Given the description of an element on the screen output the (x, y) to click on. 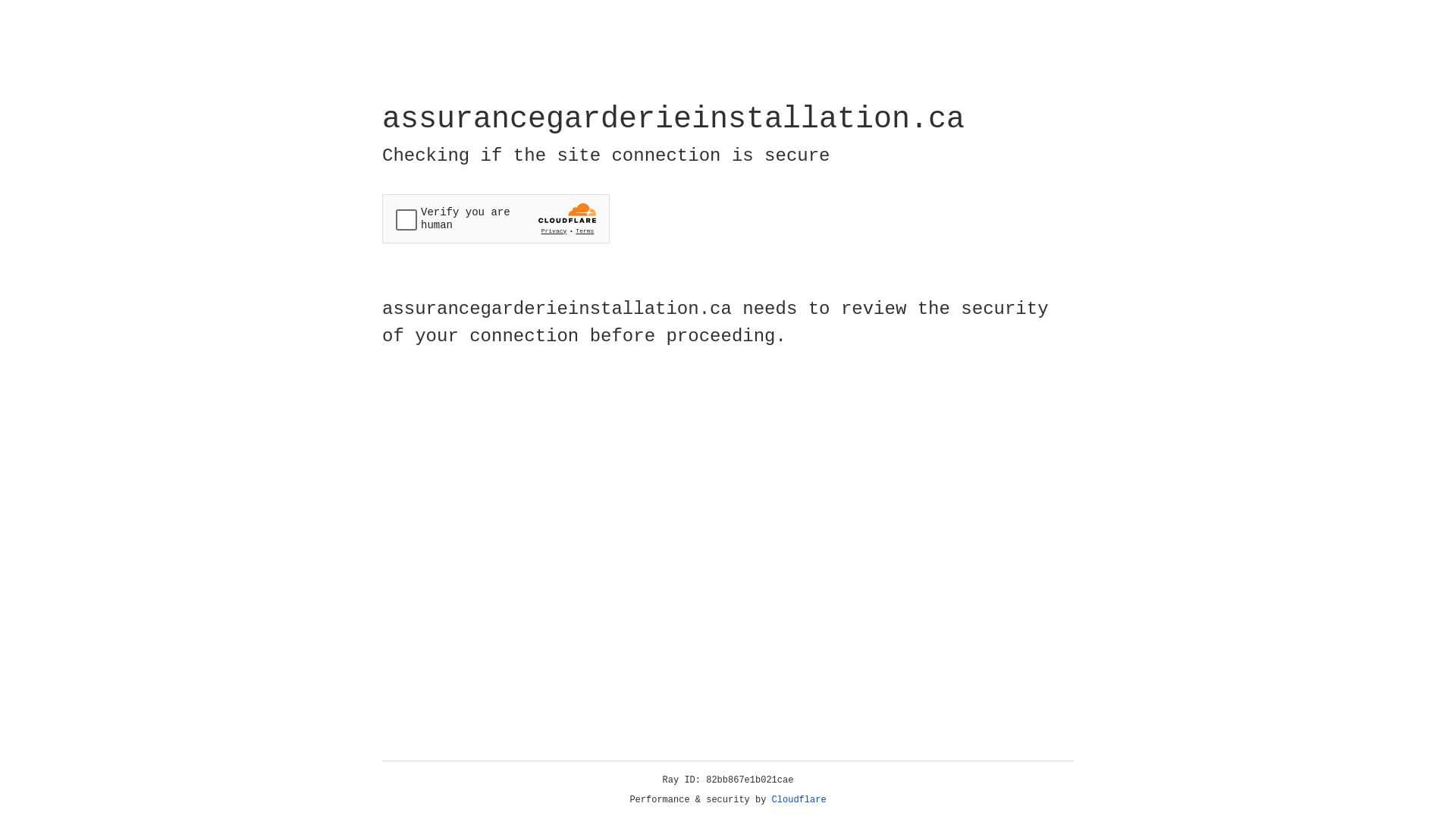
Cloudflare Element type: text (798, 799)
Widget containing a Cloudflare security challenge Element type: hover (495, 218)
